Given the description of an element on the screen output the (x, y) to click on. 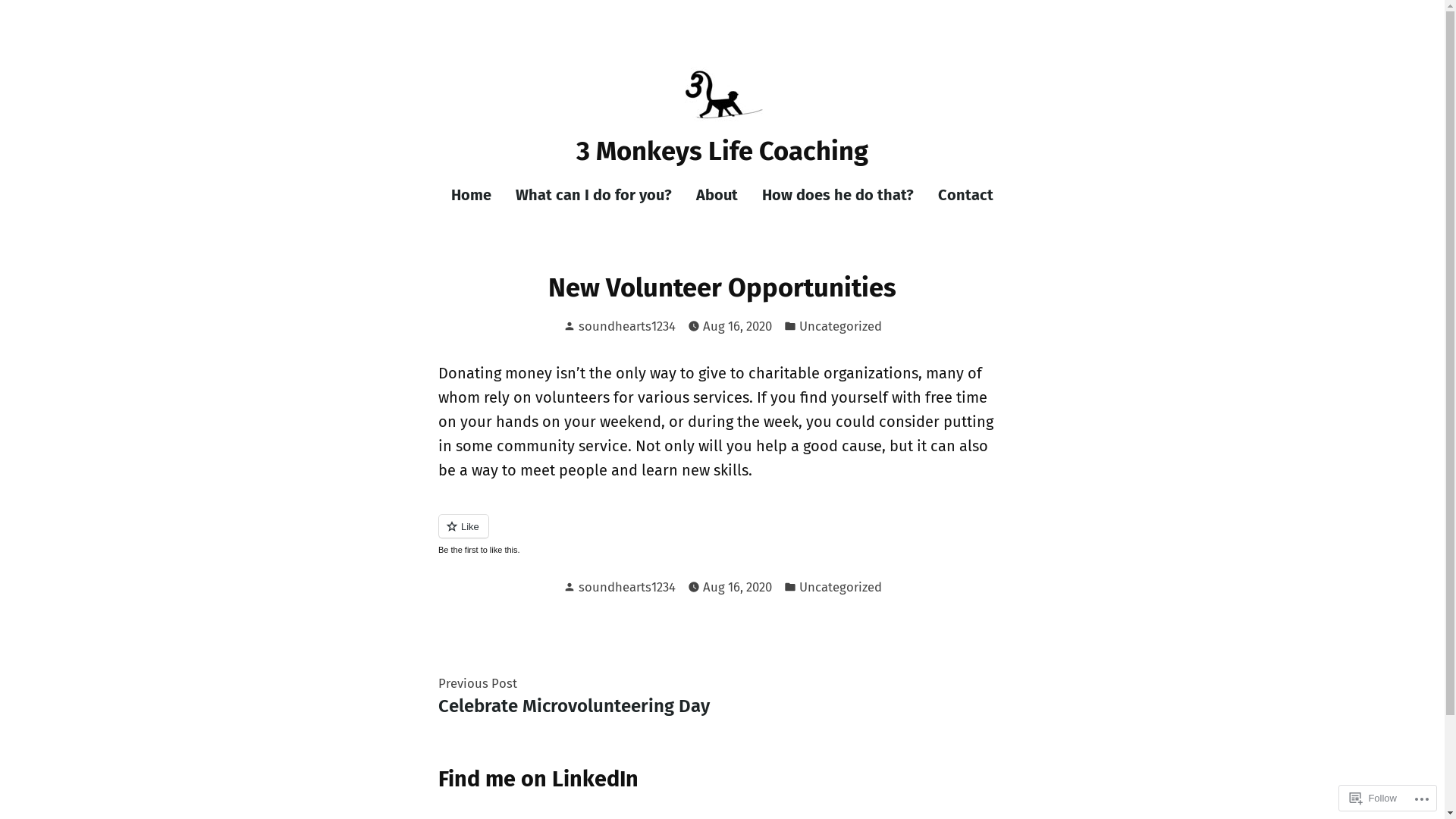
soundhearts1234 Element type: text (625, 325)
How does he do that? Element type: text (837, 195)
Uncategorized Element type: text (840, 326)
3 Monkeys Life Coaching Element type: text (722, 150)
Like or Reblog Element type: hover (722, 534)
Contact Element type: text (959, 195)
Previous Post

Celebrate Microvolunteering Day Element type: text (573, 694)
Home Element type: text (477, 195)
soundhearts1234 Element type: text (625, 586)
What can I do for you? Element type: text (593, 195)
Aug 16, 2020 Element type: text (736, 587)
Aug 16, 2020 Element type: text (736, 326)
About Element type: text (716, 195)
Uncategorized Element type: text (840, 587)
Follow Element type: text (1372, 797)
